Given the description of an element on the screen output the (x, y) to click on. 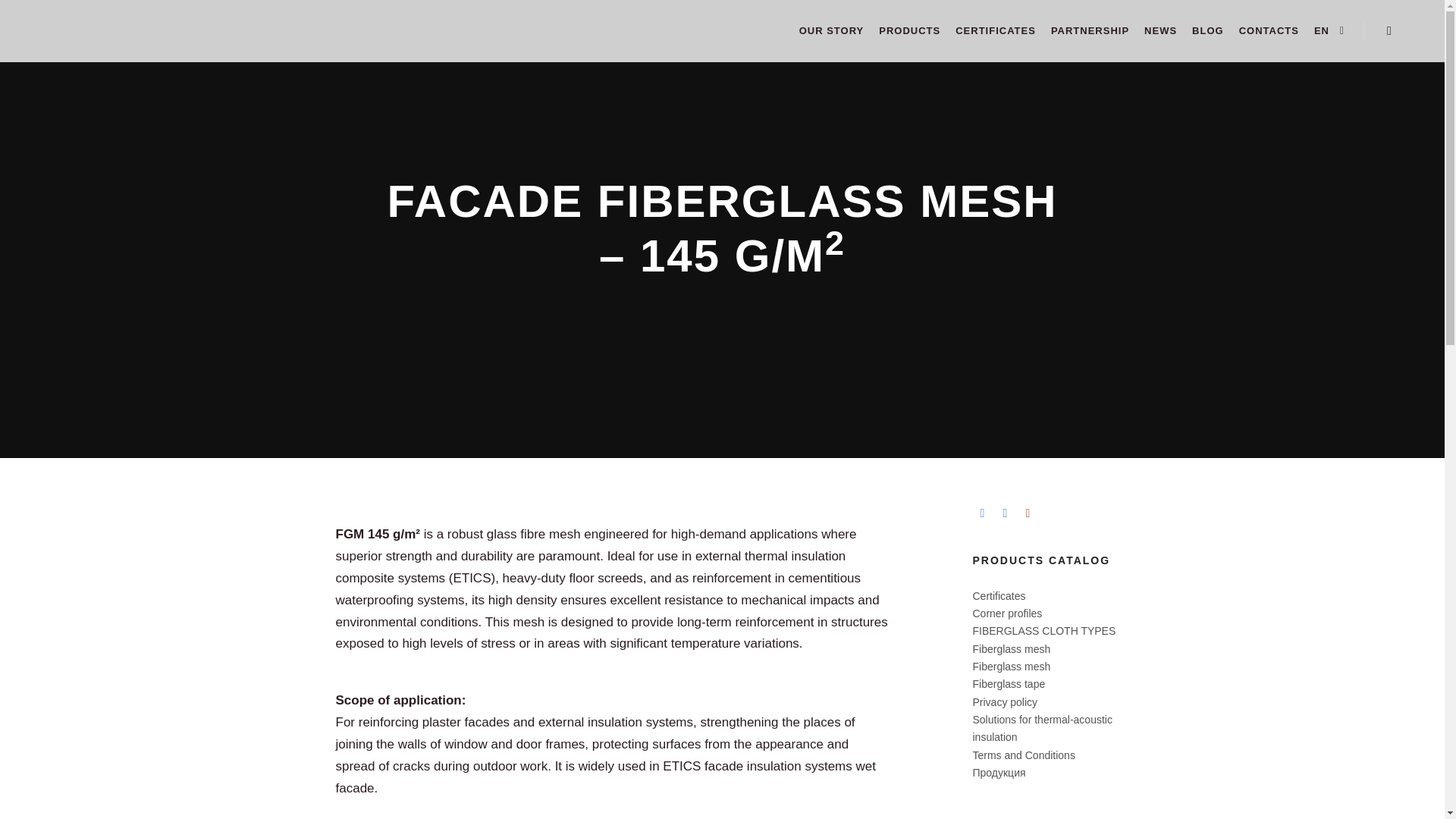
Search (1389, 30)
PRODUCTS (908, 31)
FIBERGLASS CLOTH TYPES (1043, 630)
Solutions for thermal-acoustic insulation (1042, 727)
Fiberglass mesh (1010, 666)
YouTube (1026, 513)
Corner profiles (1007, 613)
PARTNERSHIP (1090, 31)
Terms and Conditions (1023, 755)
Privacy policy (1004, 702)
CERTIFICATES (995, 31)
FGM.MD (68, 31)
Facebook (981, 513)
OUR STORY (832, 31)
Fiberglass mesh (1010, 648)
